Given the description of an element on the screen output the (x, y) to click on. 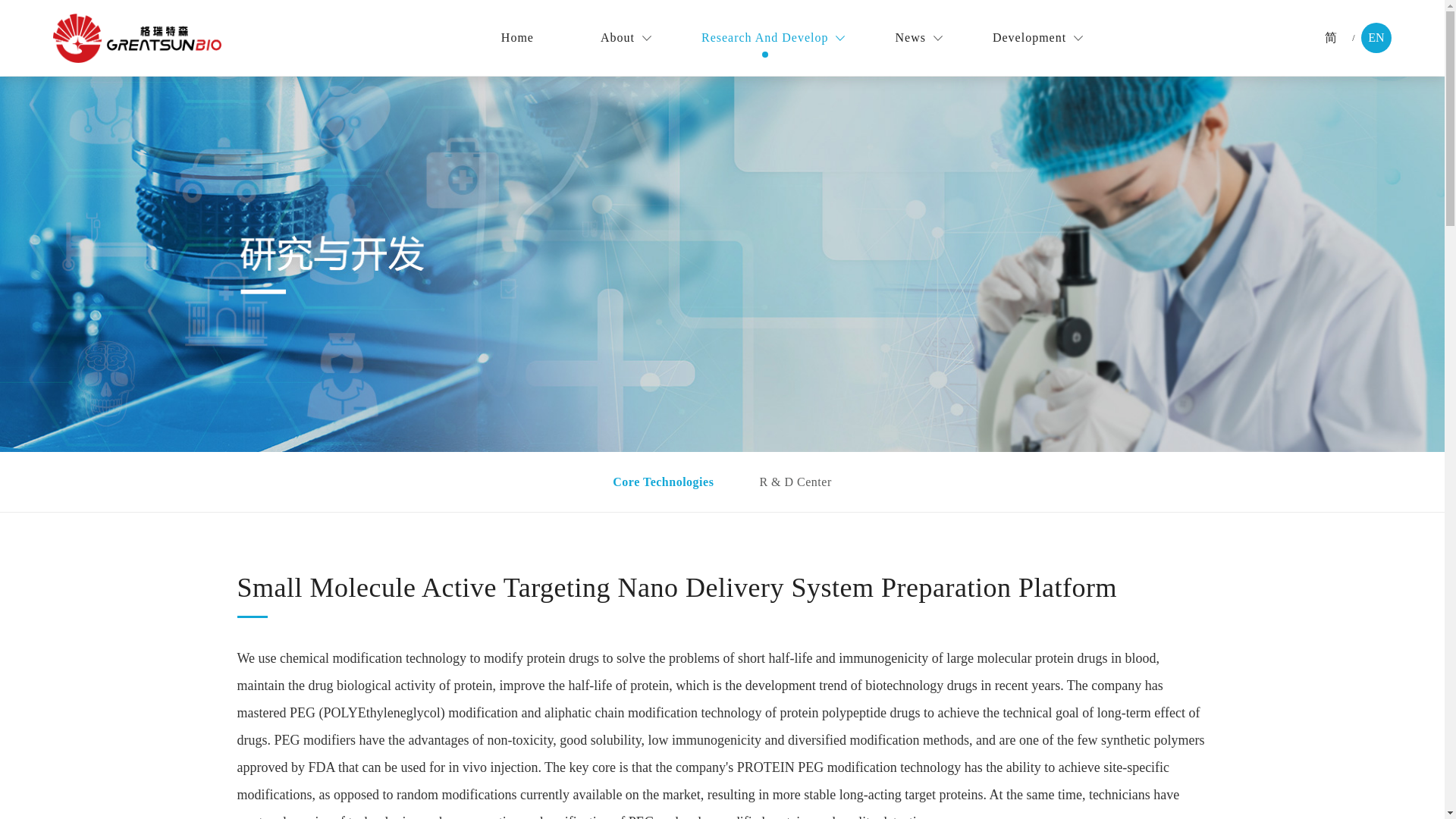
1689753652488669.png (136, 38)
Core Technologies (662, 481)
Research And Develop (764, 38)
Development (1028, 38)
